Given the description of an element on the screen output the (x, y) to click on. 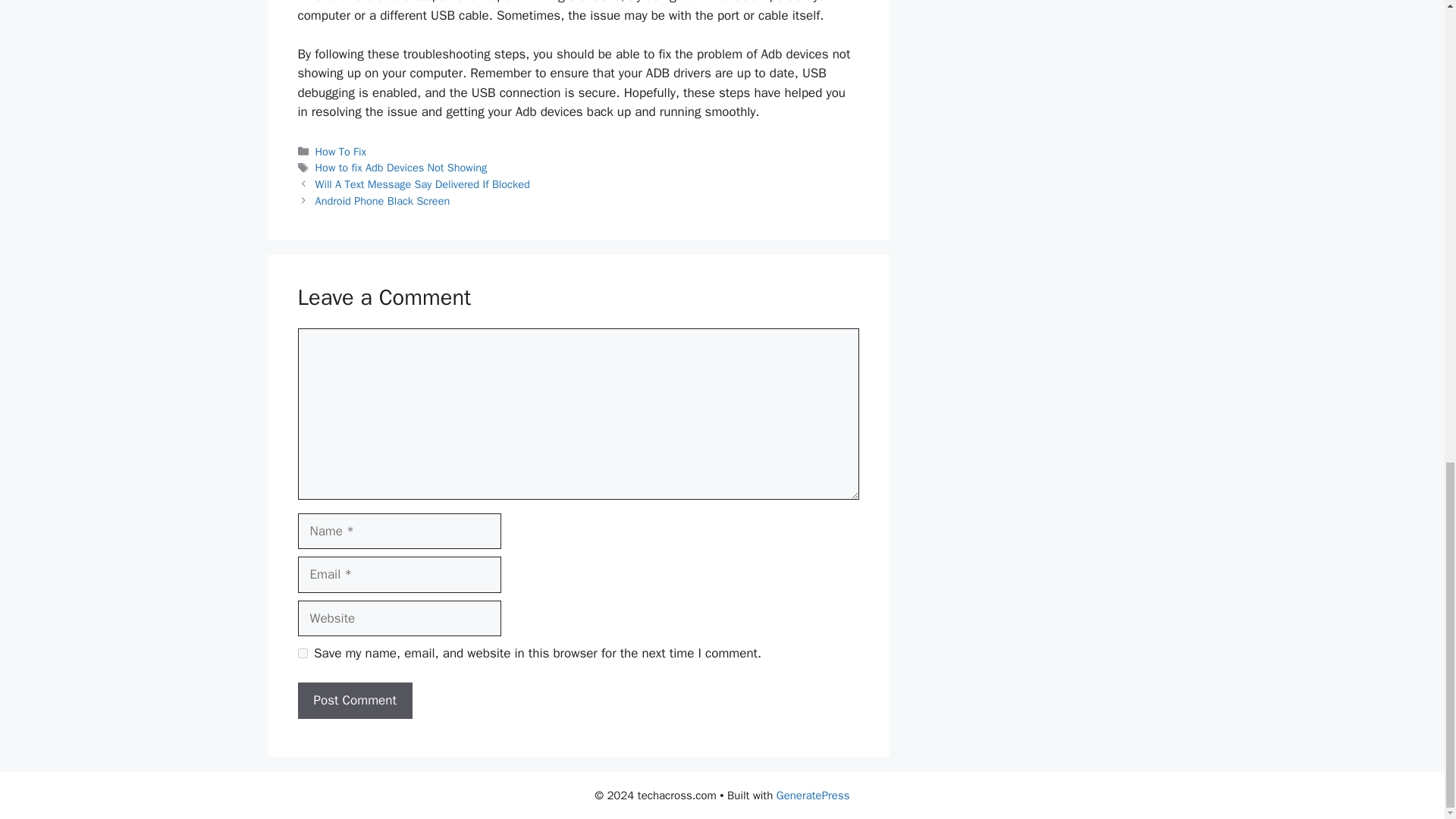
How to fix Adb Devices Not Showing (401, 167)
How To Fix (340, 151)
Will A Text Message Say Delivered If Blocked (422, 183)
Post Comment (354, 700)
Post Comment (354, 700)
yes (302, 653)
Android Phone Black Screen (382, 201)
GeneratePress (813, 795)
